Given the description of an element on the screen output the (x, y) to click on. 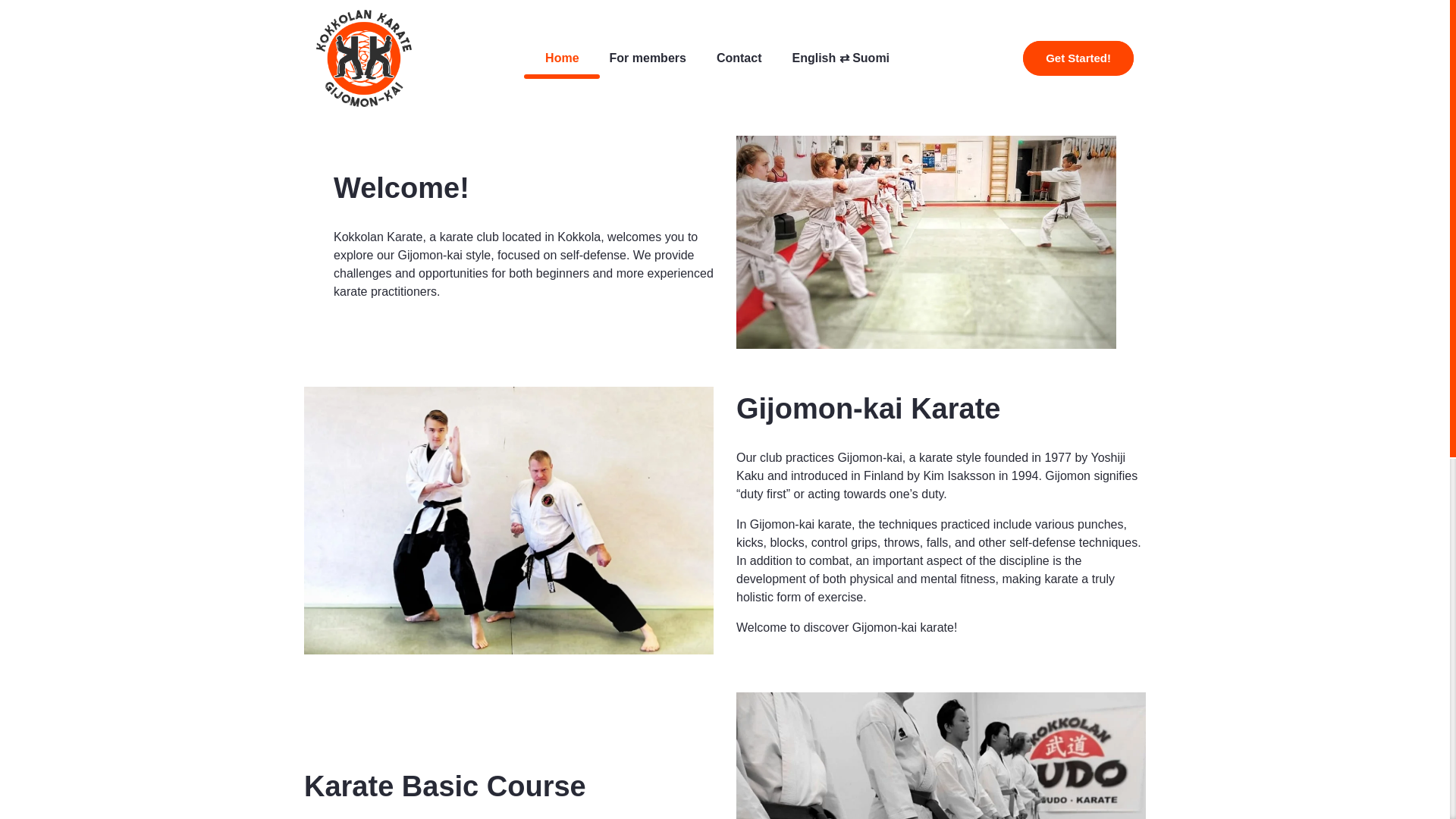
Get Started! (1078, 58)
Get Started! (1078, 58)
For members (647, 58)
Contact (739, 58)
For members (647, 58)
Finnish (840, 58)
Home (561, 58)
Contact (739, 58)
Home (561, 58)
